Given the description of an element on the screen output the (x, y) to click on. 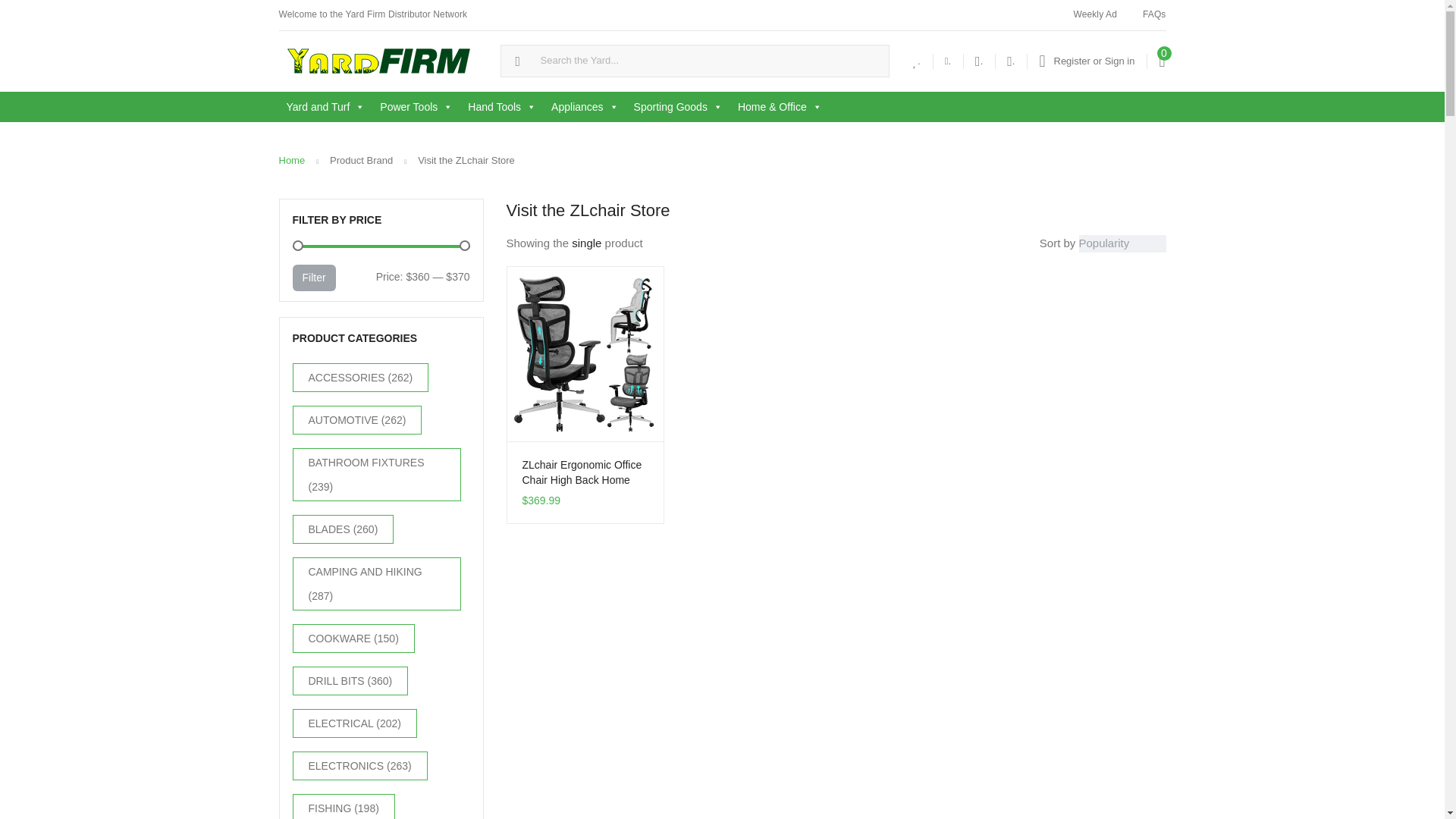
FAQs (1154, 15)
Weekly Ad (1094, 15)
Search (17, 12)
Welcome to the Yard Firm Distributor Network (372, 15)
Yard and Turf (325, 106)
Register or Sign in (1086, 61)
